Given the description of an element on the screen output the (x, y) to click on. 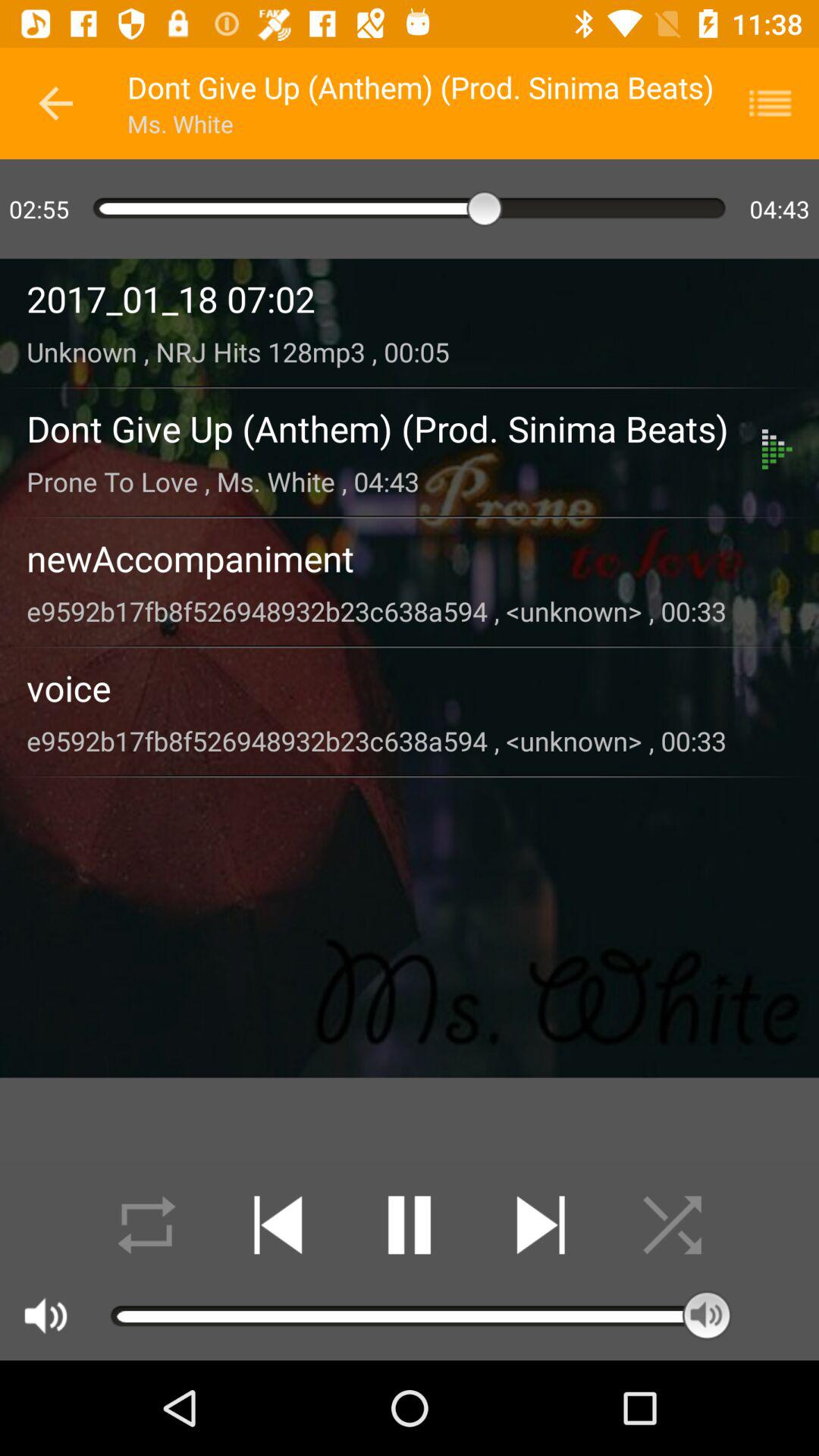
last song (277, 1224)
